Given the description of an element on the screen output the (x, y) to click on. 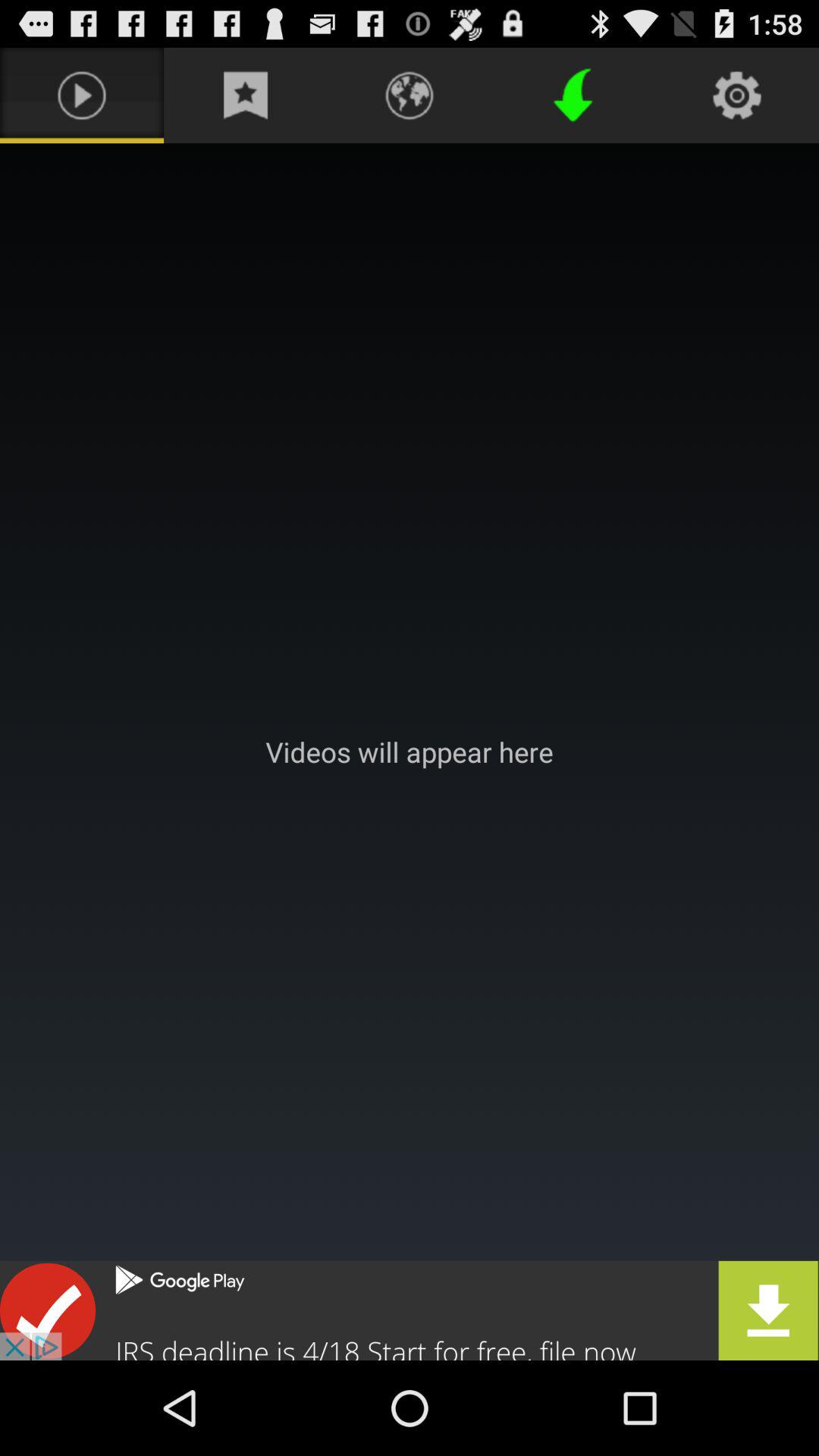
adventisment page (409, 751)
